Given the description of an element on the screen output the (x, y) to click on. 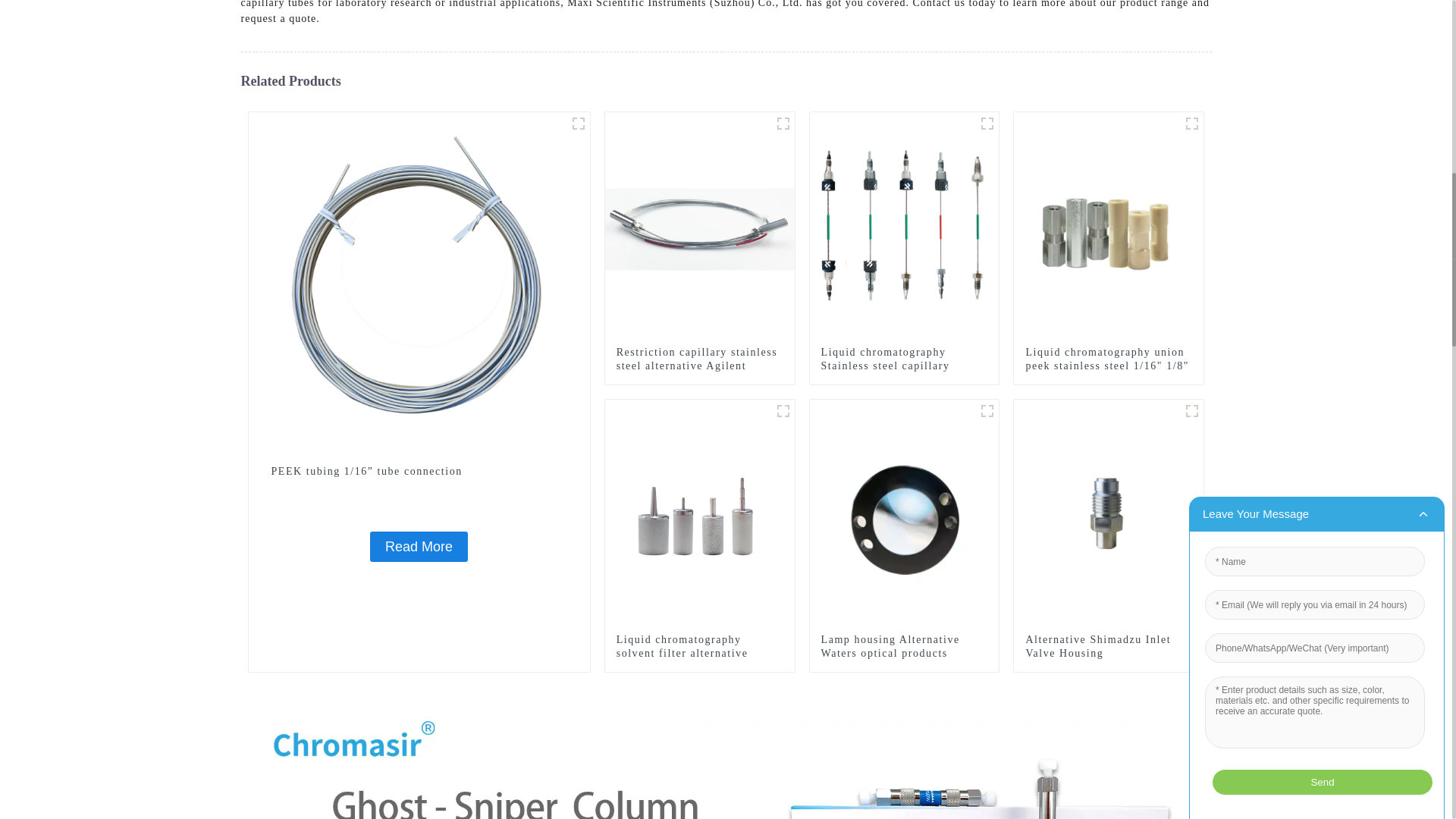
Liquid chromatography Stainless steel capillary chromasir (904, 365)
Liquid chromatography Stainless steel capillary chromasir (904, 365)
Liquid chromatography Stainless steel capillary chromasir (903, 225)
Lamp housing Alternative Waters optical products (904, 646)
Read More (418, 546)
Restriction capillary stainless steel alternative Agilent (699, 359)
Lamp housing Alternative Waters optical products (903, 512)
Restriction capillary stainless steel alternative Agilent  (699, 359)
Restriction capillary stainless steel alternative Agilent  (699, 225)
1a593015240ea3c0a1f1a7dca6d379c (986, 410)
